Given the description of an element on the screen output the (x, y) to click on. 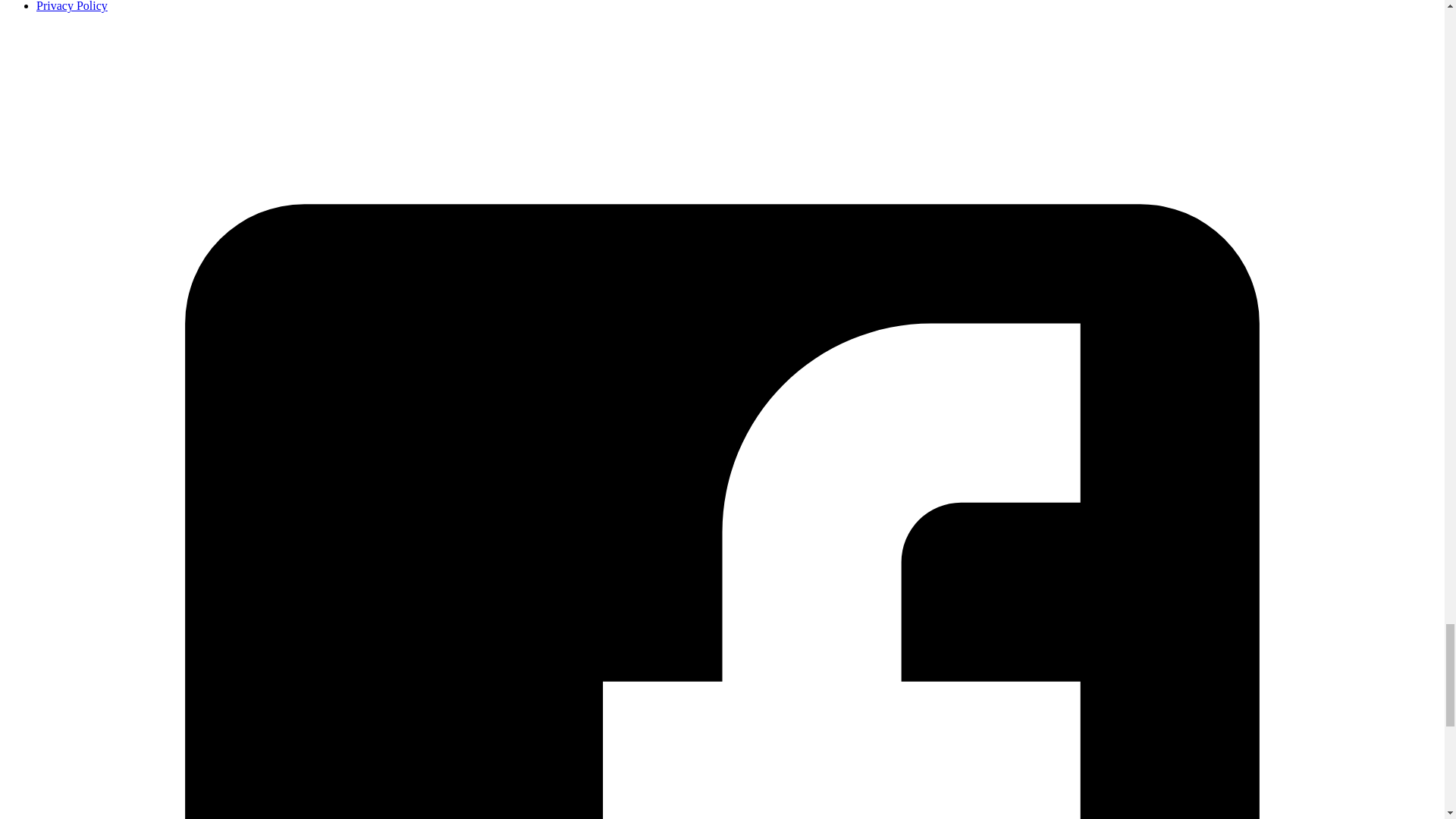
Privacy Policy (71, 6)
